Given the description of an element on the screen output the (x, y) to click on. 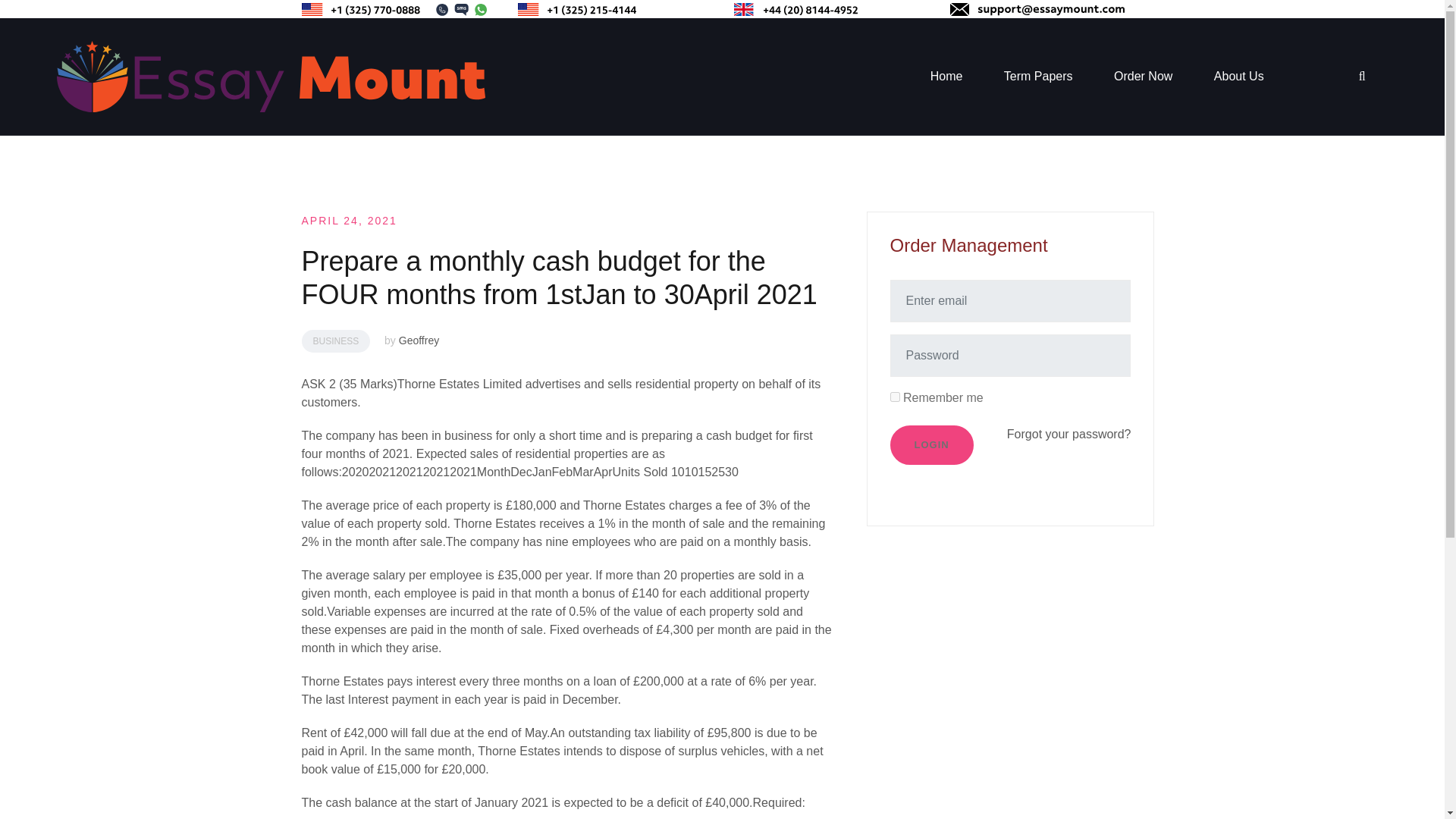
Home (946, 76)
APRIL 24, 2021 (349, 220)
About Us (1238, 76)
Term Papers (1038, 76)
click to Login (931, 445)
Forgot your password? (1069, 433)
Recover password (1069, 433)
Order Now (1142, 76)
BUSINESS (336, 341)
Geoffrey (418, 340)
